Given the description of an element on the screen output the (x, y) to click on. 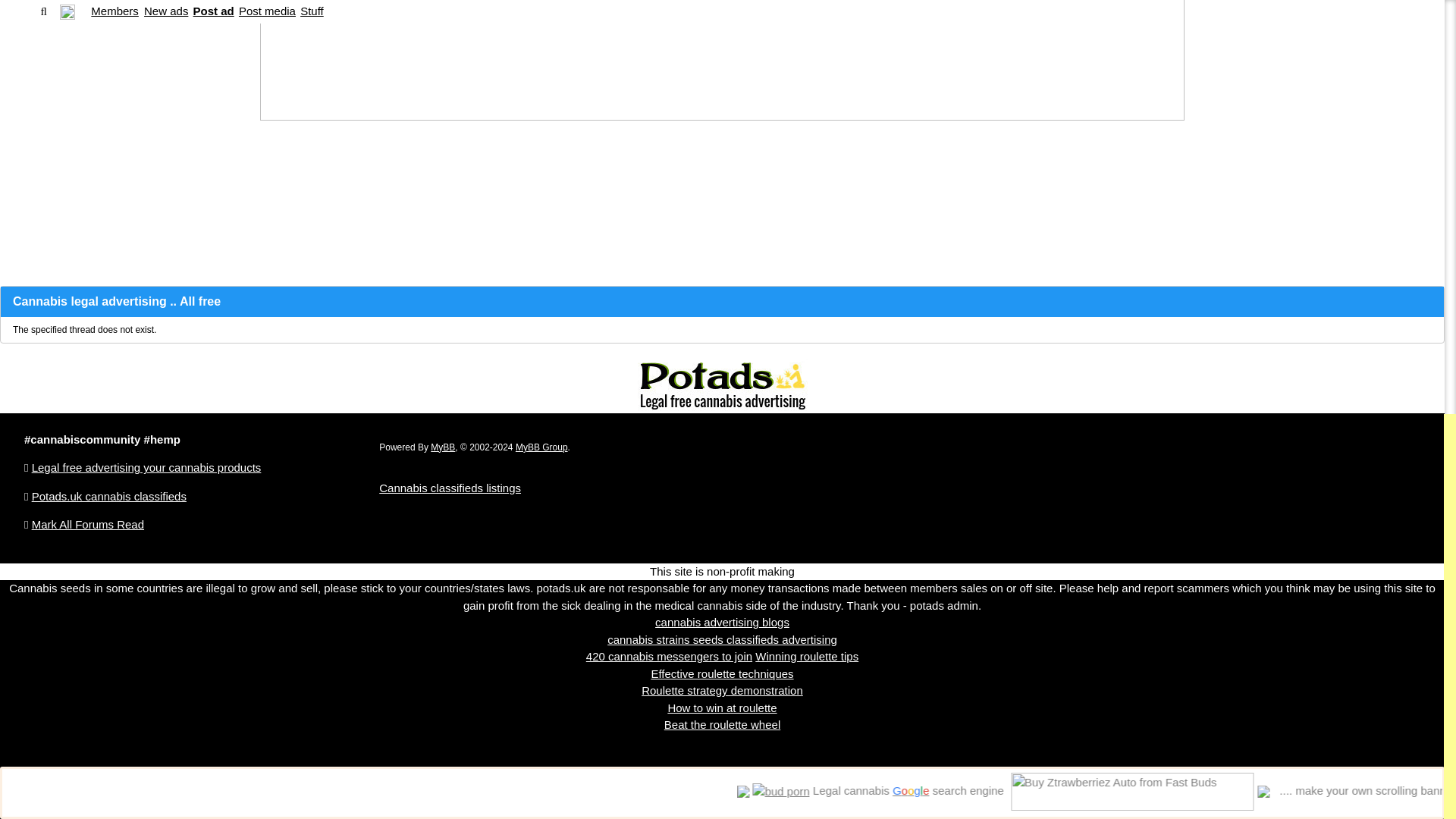
cannabis messenger (669, 656)
420 blogs to read (722, 621)
420 legal adverts (722, 639)
